Given the description of an element on the screen output the (x, y) to click on. 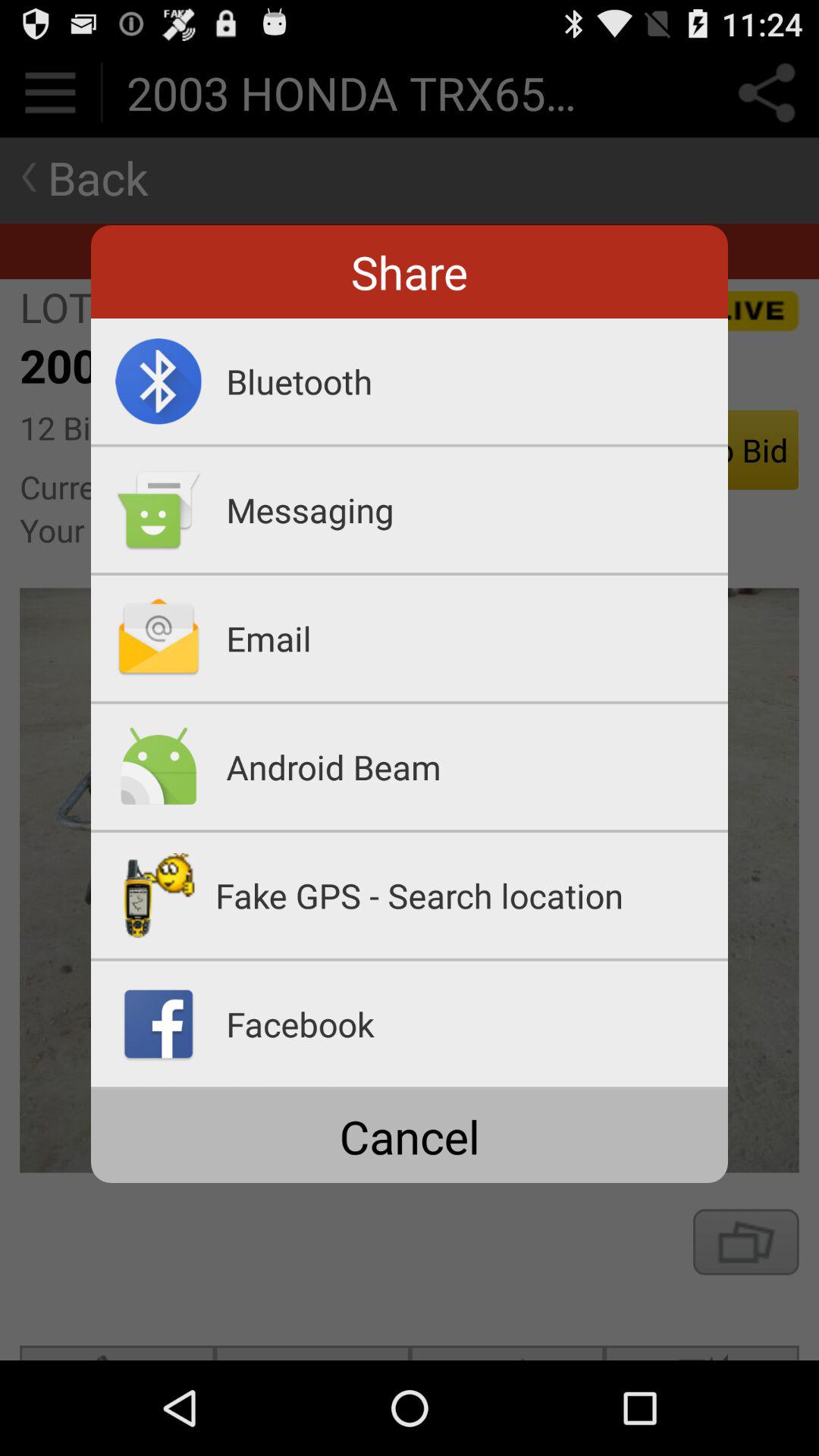
turn off android beam app (477, 766)
